Given the description of an element on the screen output the (x, y) to click on. 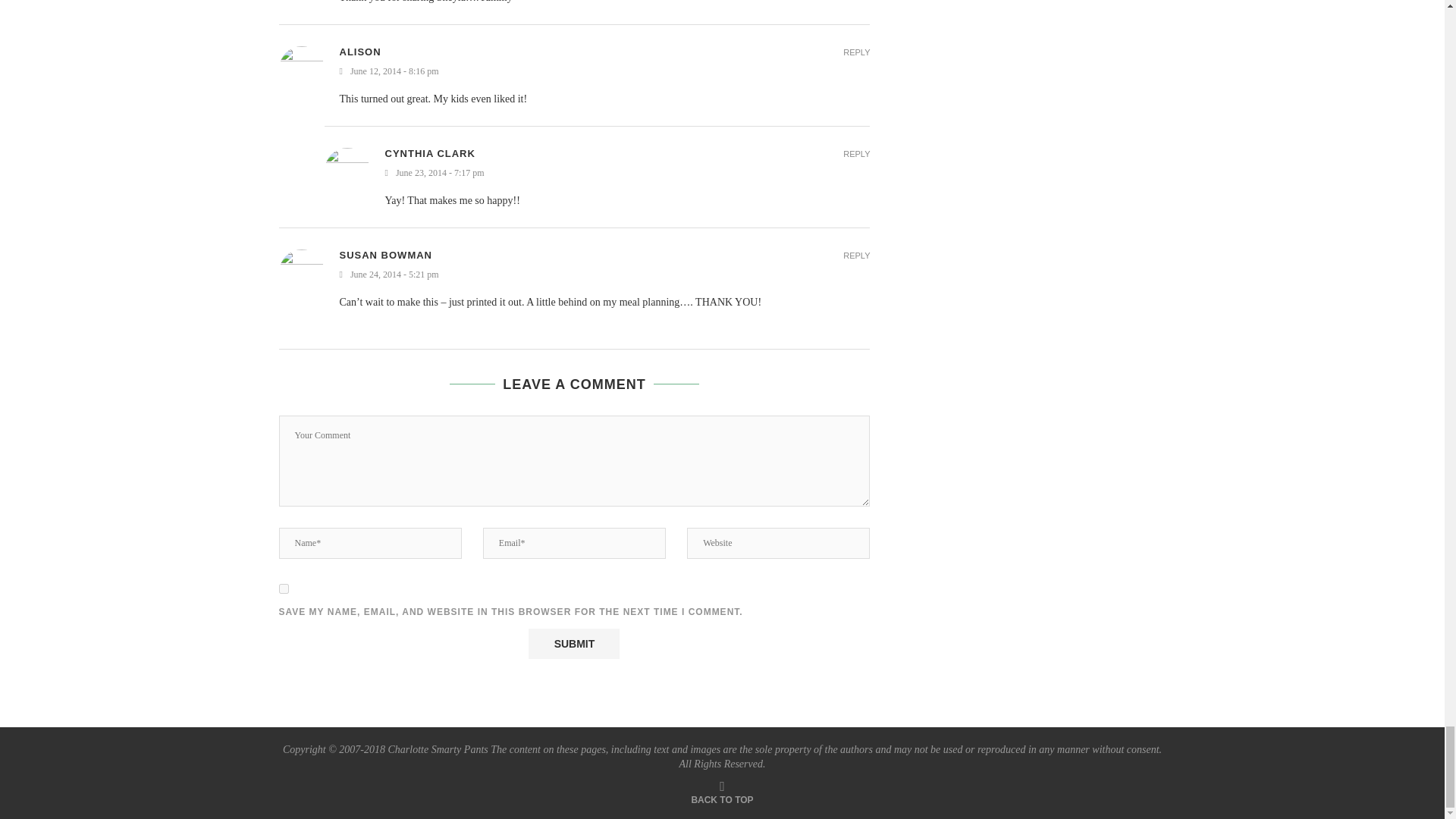
yes (283, 588)
Submit (574, 643)
